Given the description of an element on the screen output the (x, y) to click on. 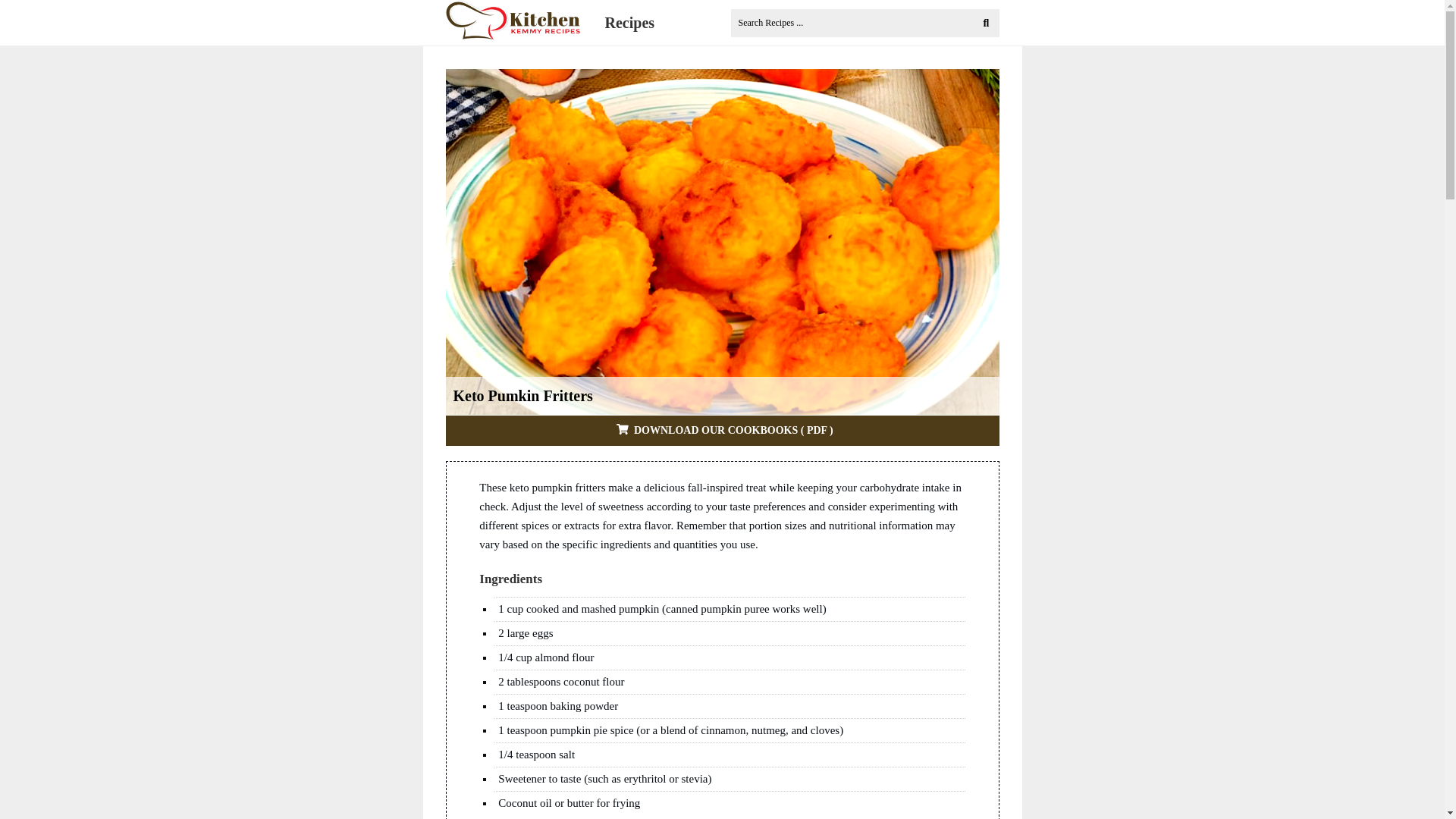
Recipes (629, 22)
